Given the description of an element on the screen output the (x, y) to click on. 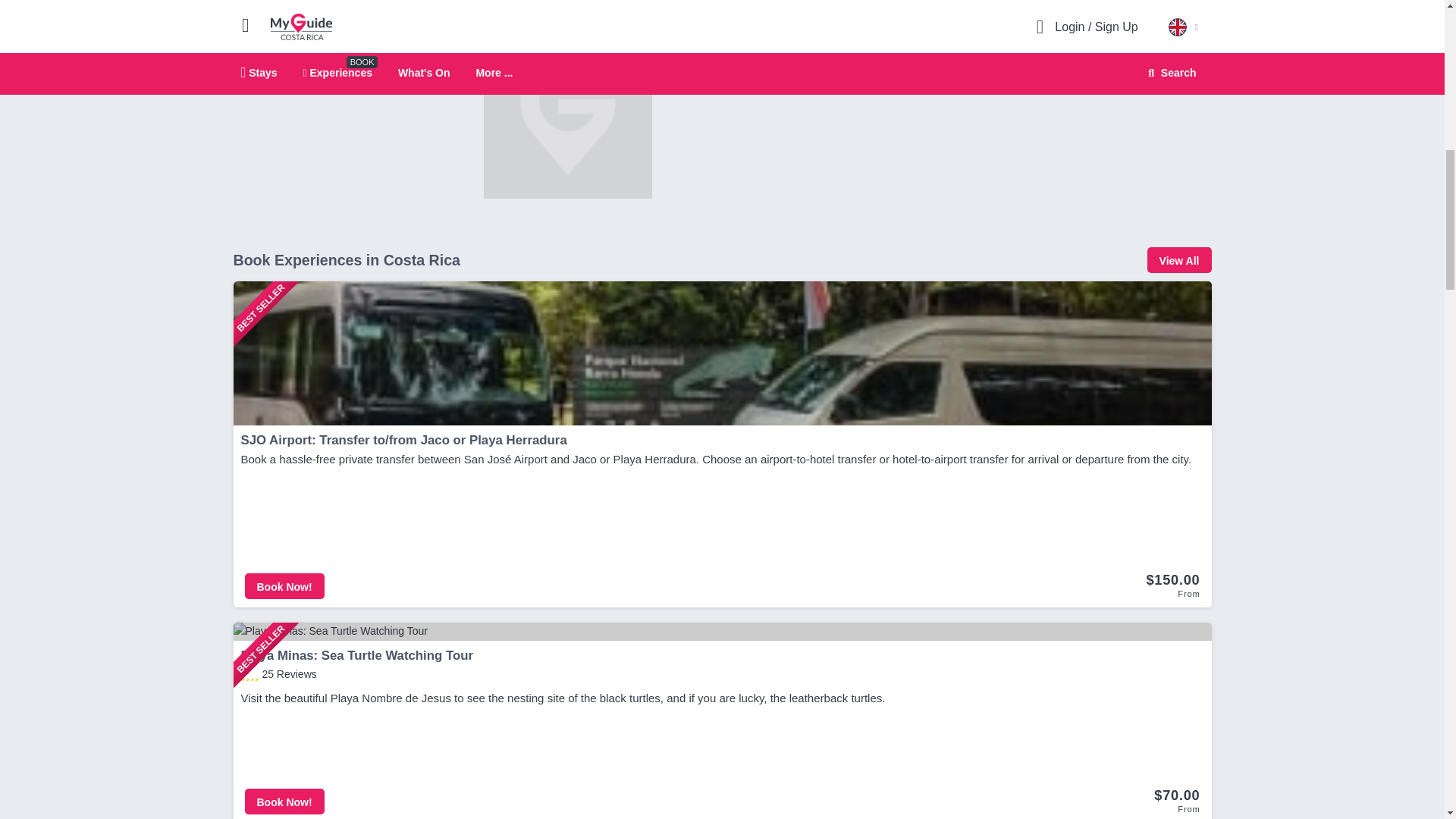
Cahuita Information (567, 114)
